Given the description of an element on the screen output the (x, y) to click on. 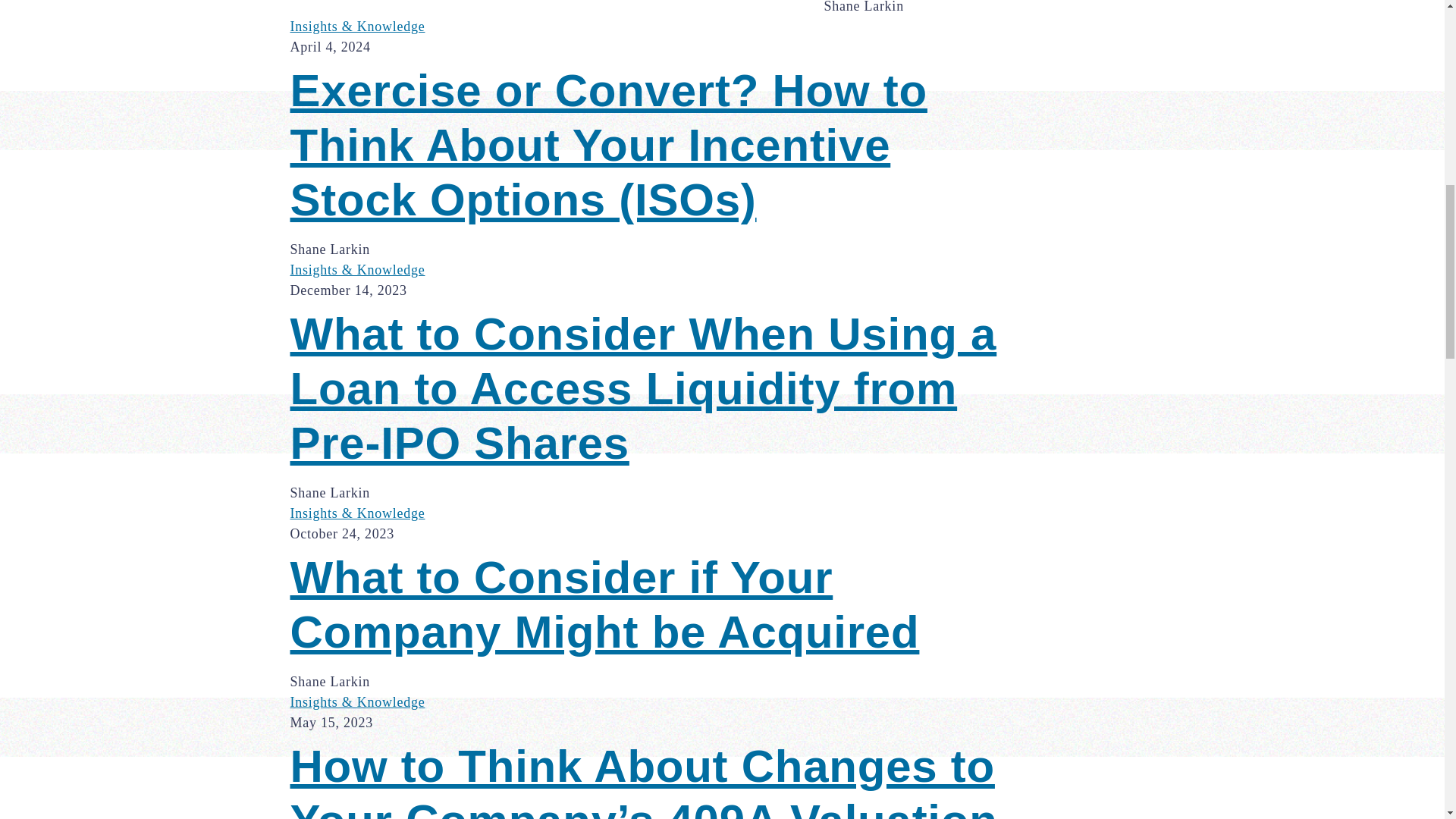
What to Consider if Your Company Might be Acquired (658, 605)
What to Consider if Your Company Might be Acquired (658, 605)
